Given the description of an element on the screen output the (x, y) to click on. 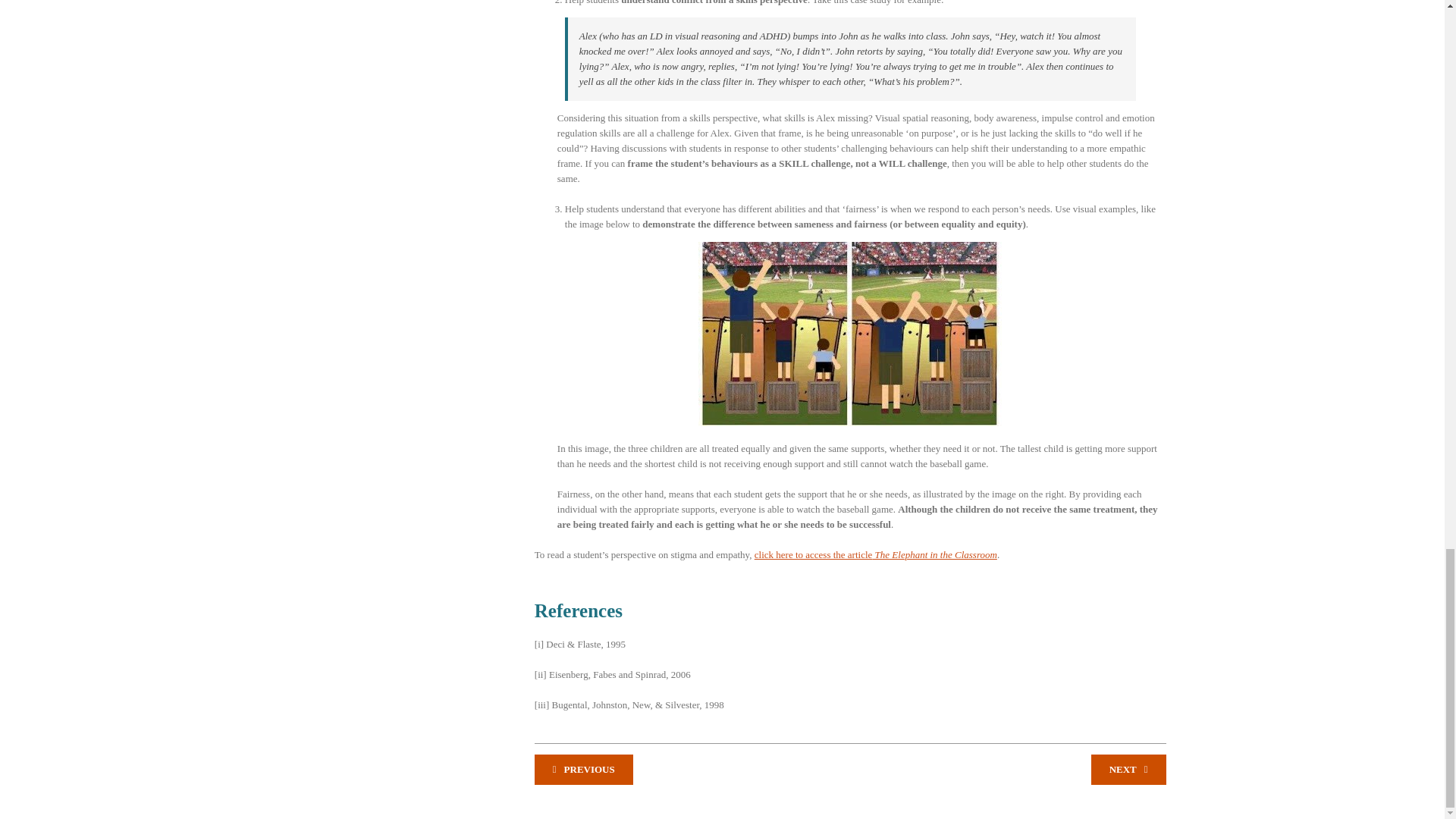
PREVIOUS (583, 769)
Yellow Zone (1128, 769)
Green Zone (583, 769)
NEXT (1128, 769)
